Given the description of an element on the screen output the (x, y) to click on. 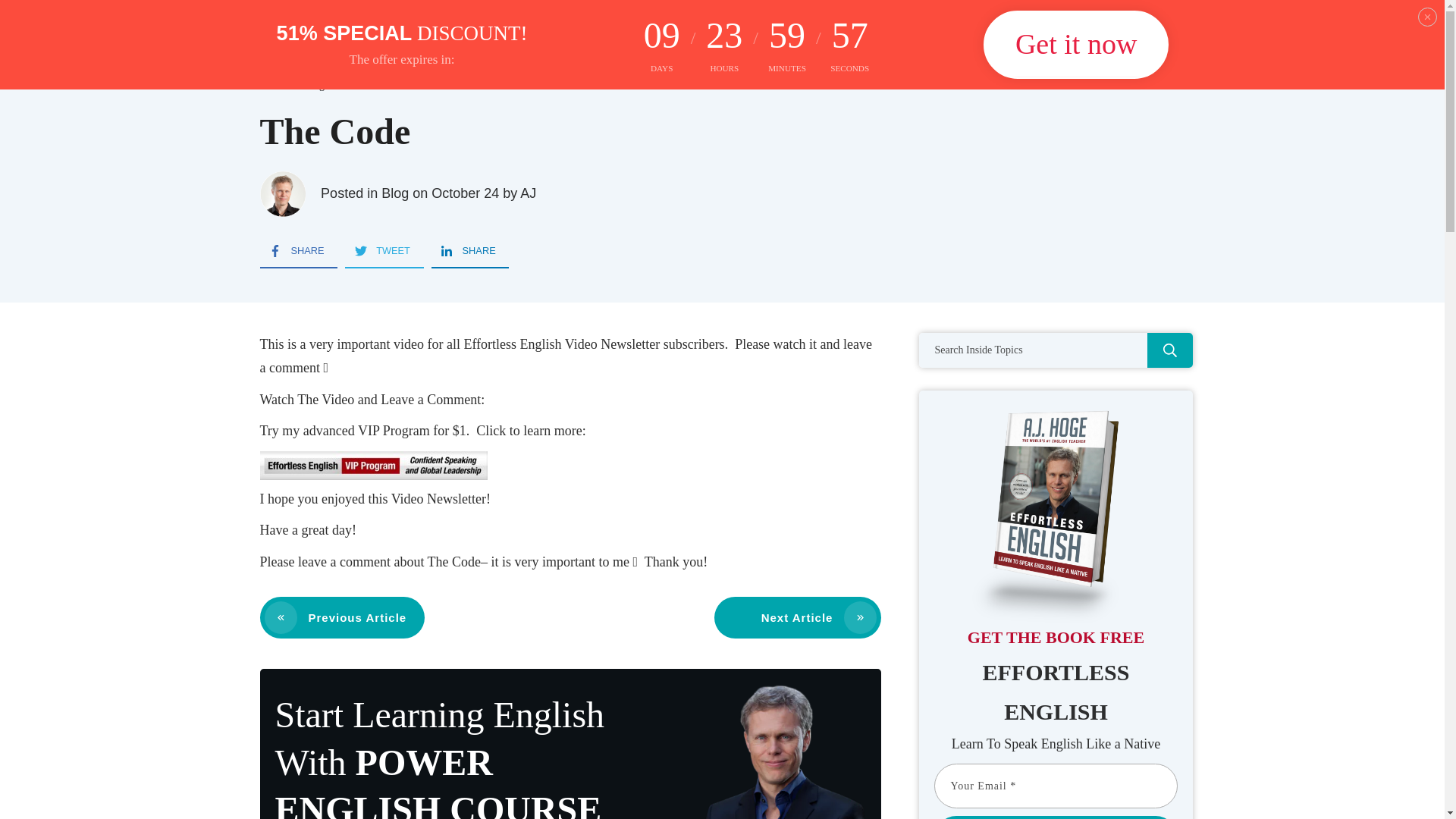
Courses (711, 30)
Home (272, 84)
Contact (1163, 30)
Categories (814, 30)
Blog (395, 192)
checkout-aj (764, 751)
Blog (314, 84)
AJ-Hoge (281, 194)
Testimonials (1073, 30)
VIPbannerad1 (372, 465)
